Given the description of an element on the screen output the (x, y) to click on. 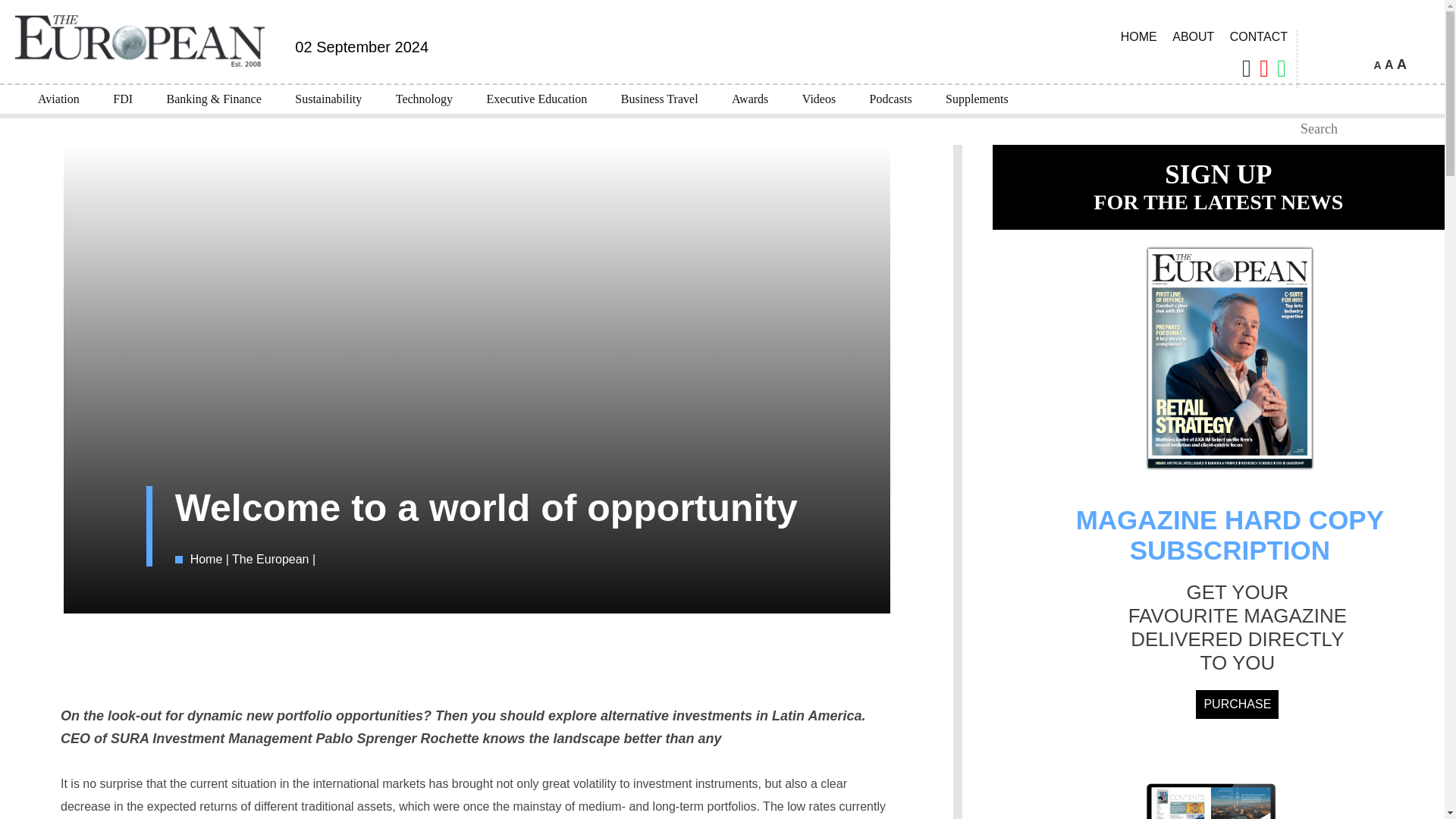
Search (1284, 128)
Search (1284, 128)
Business Travel (659, 99)
Aviation (58, 99)
HOME (1139, 36)
Supplements (976, 99)
ABOUT (1193, 36)
Podcasts (890, 99)
Awards (749, 99)
PURCHASE (1236, 704)
